Given the description of an element on the screen output the (x, y) to click on. 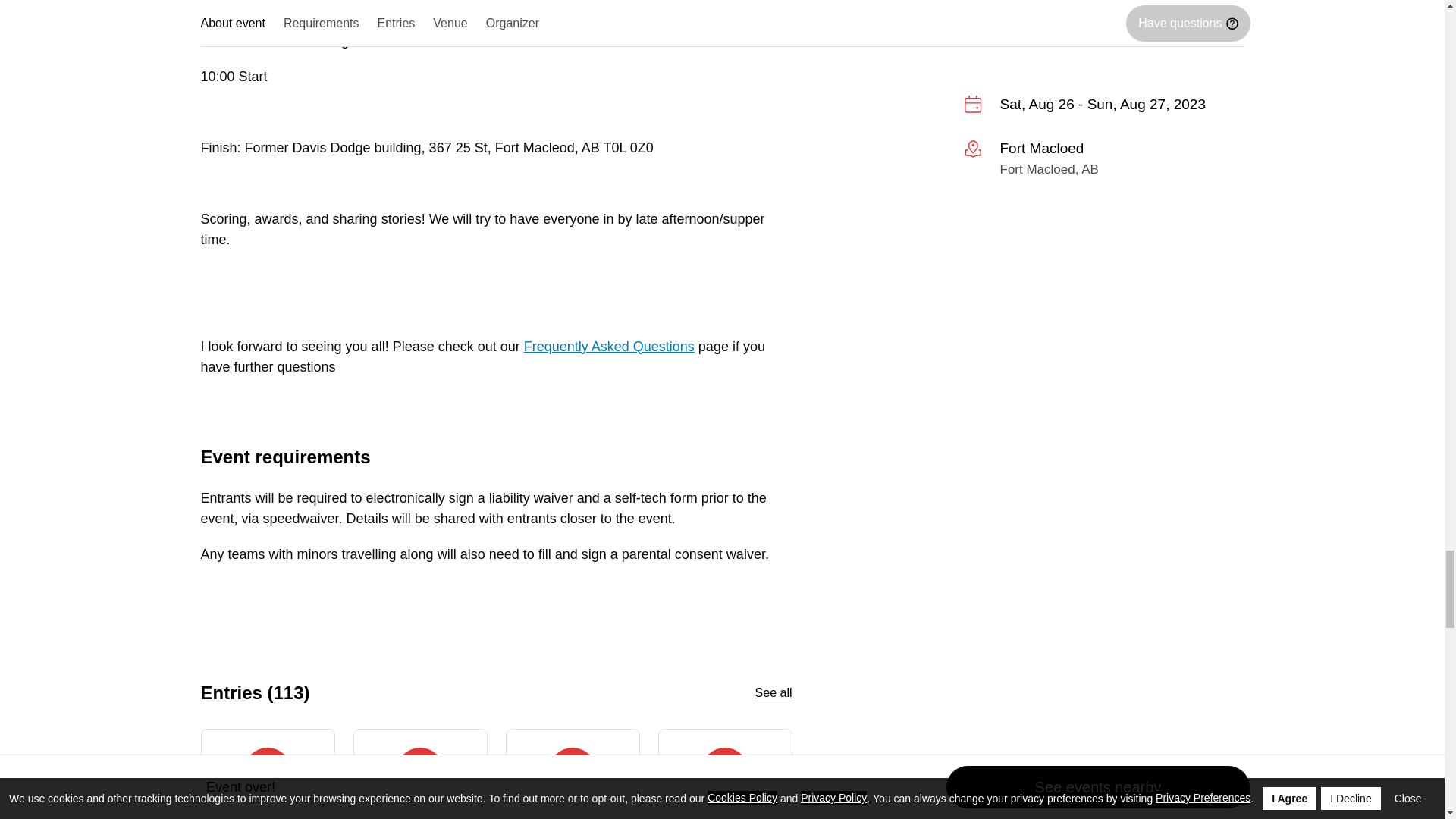
Frequently Asked Questions (609, 346)
See all (773, 692)
